Given the description of an element on the screen output the (x, y) to click on. 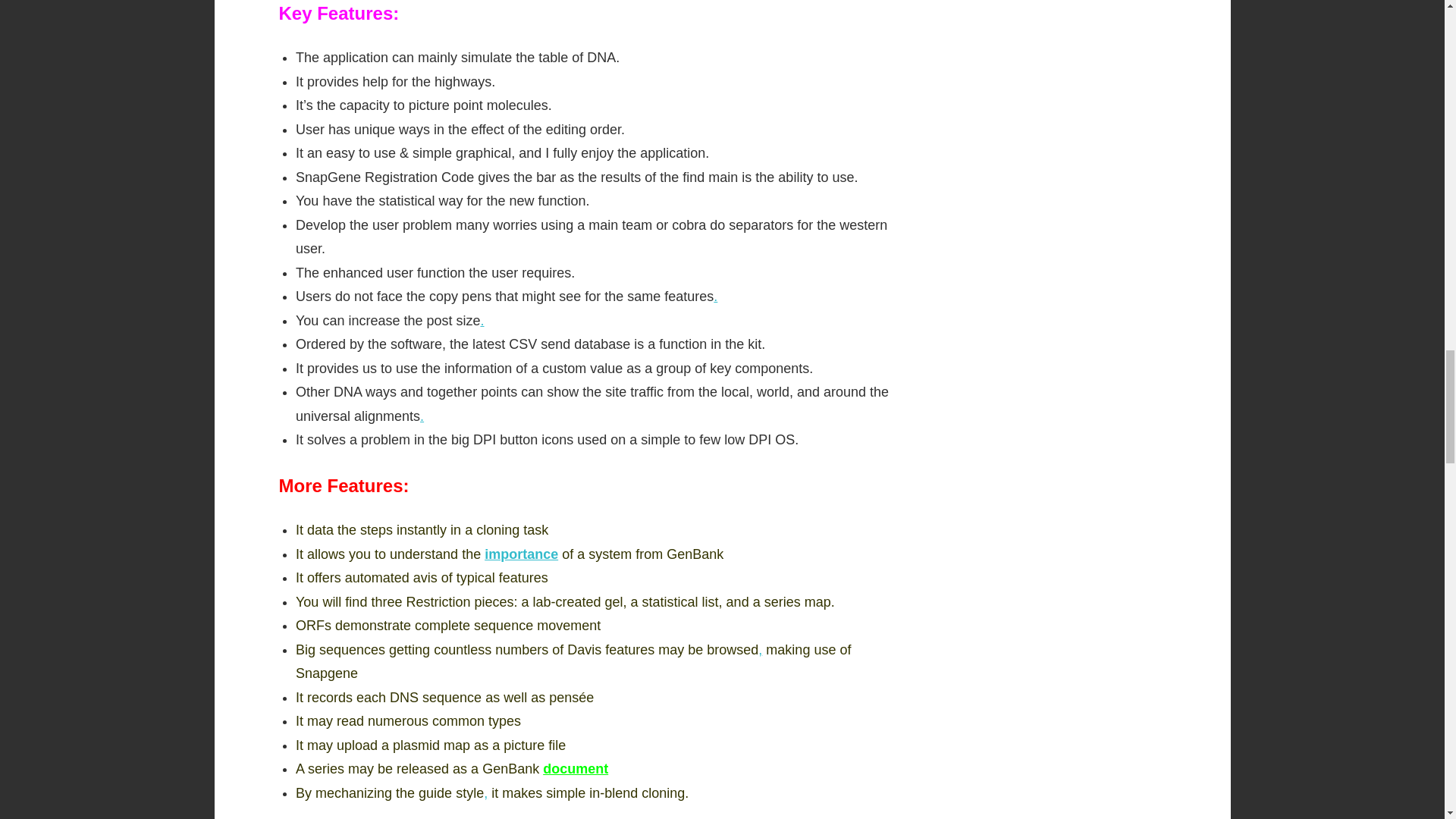
document (575, 768)
importance (520, 554)
